Given the description of an element on the screen output the (x, y) to click on. 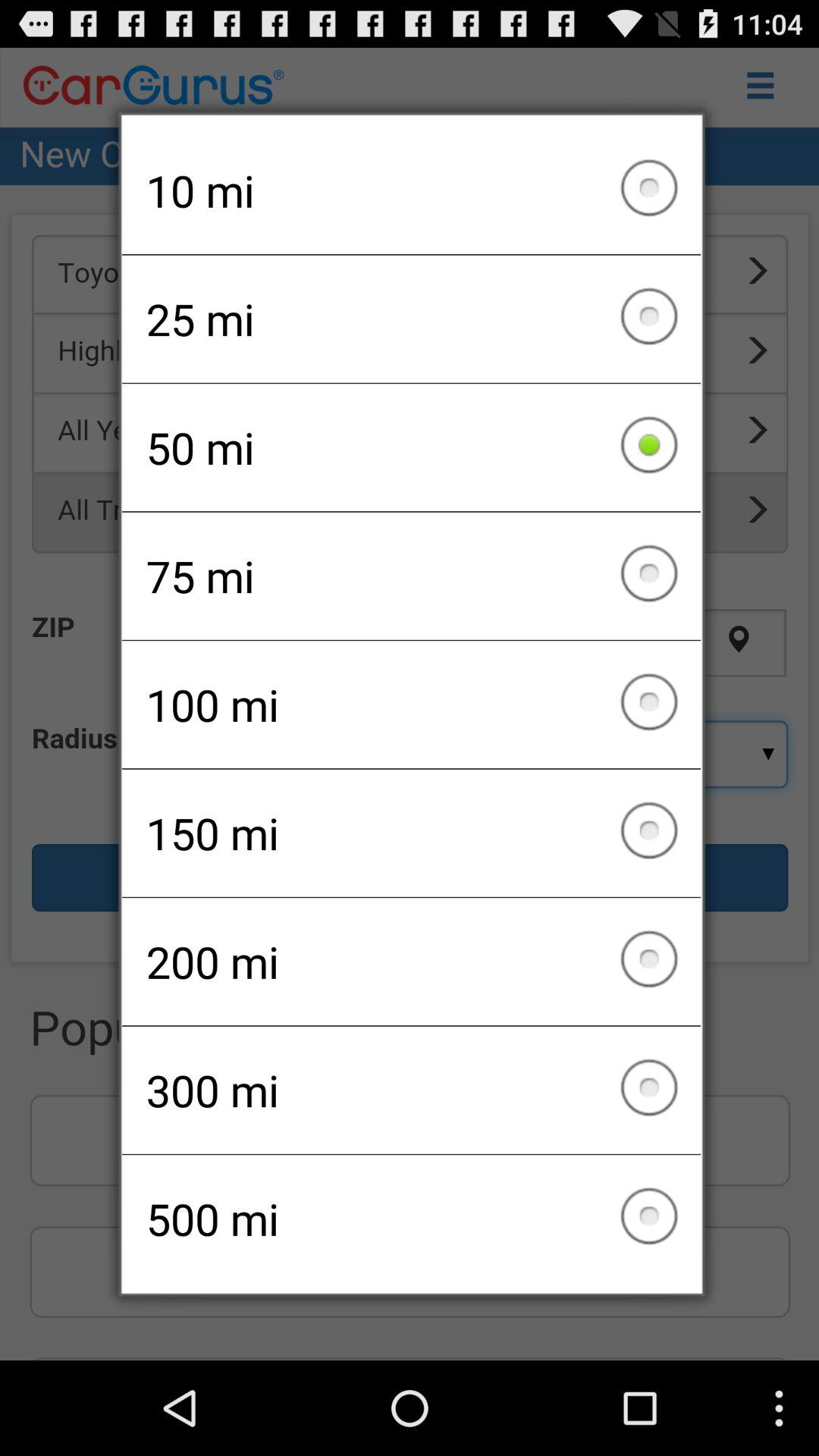
choose the icon below 75 mi (411, 704)
